Given the description of an element on the screen output the (x, y) to click on. 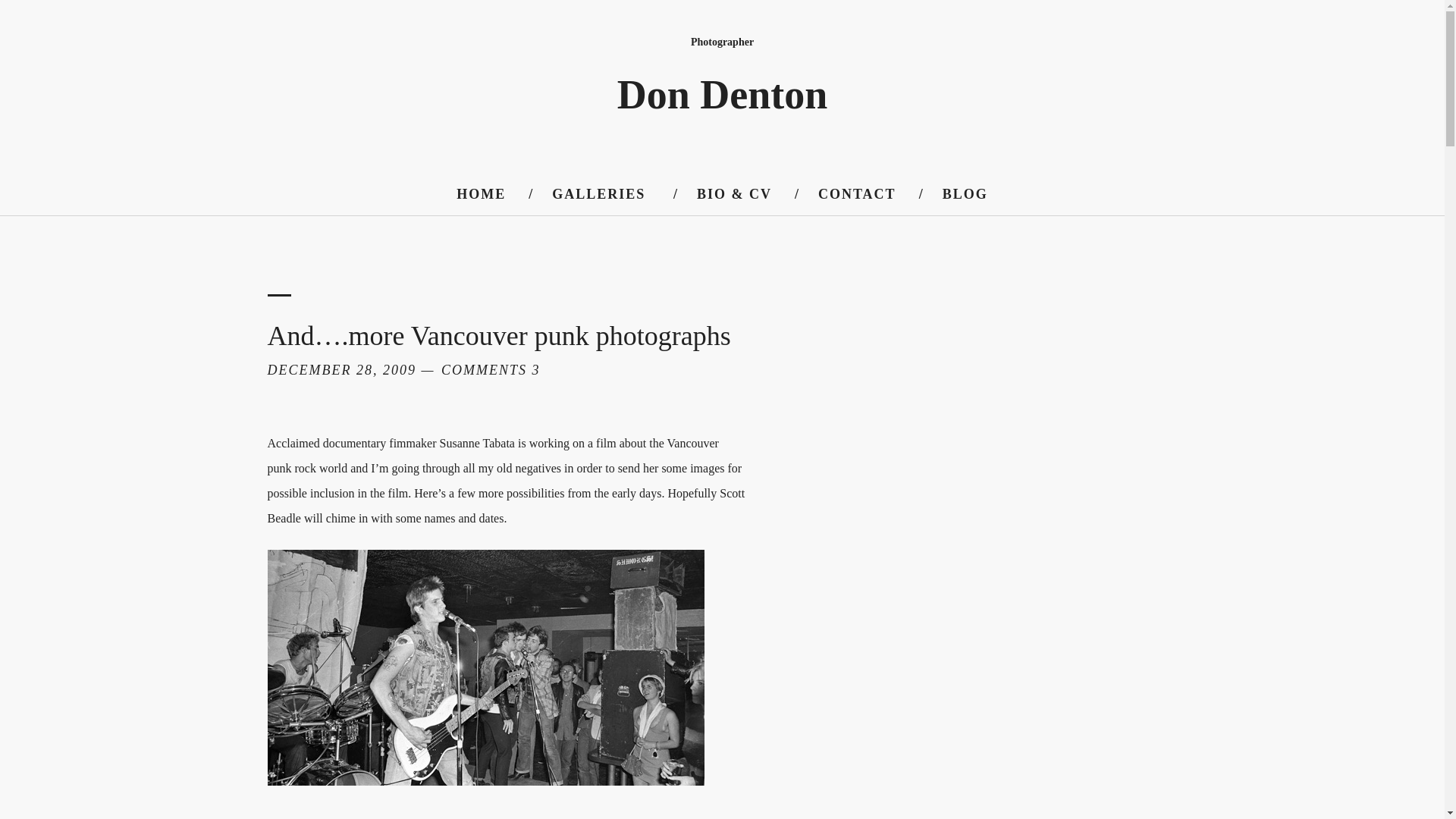
DECEMBER 28, 2009 (340, 369)
BLOG (965, 193)
Don Denton (722, 94)
COMMENTS 3 (490, 369)
HOME (481, 193)
webdoabackup (484, 667)
CONTACT (857, 193)
GALLERIES (598, 193)
